Given the description of an element on the screen output the (x, y) to click on. 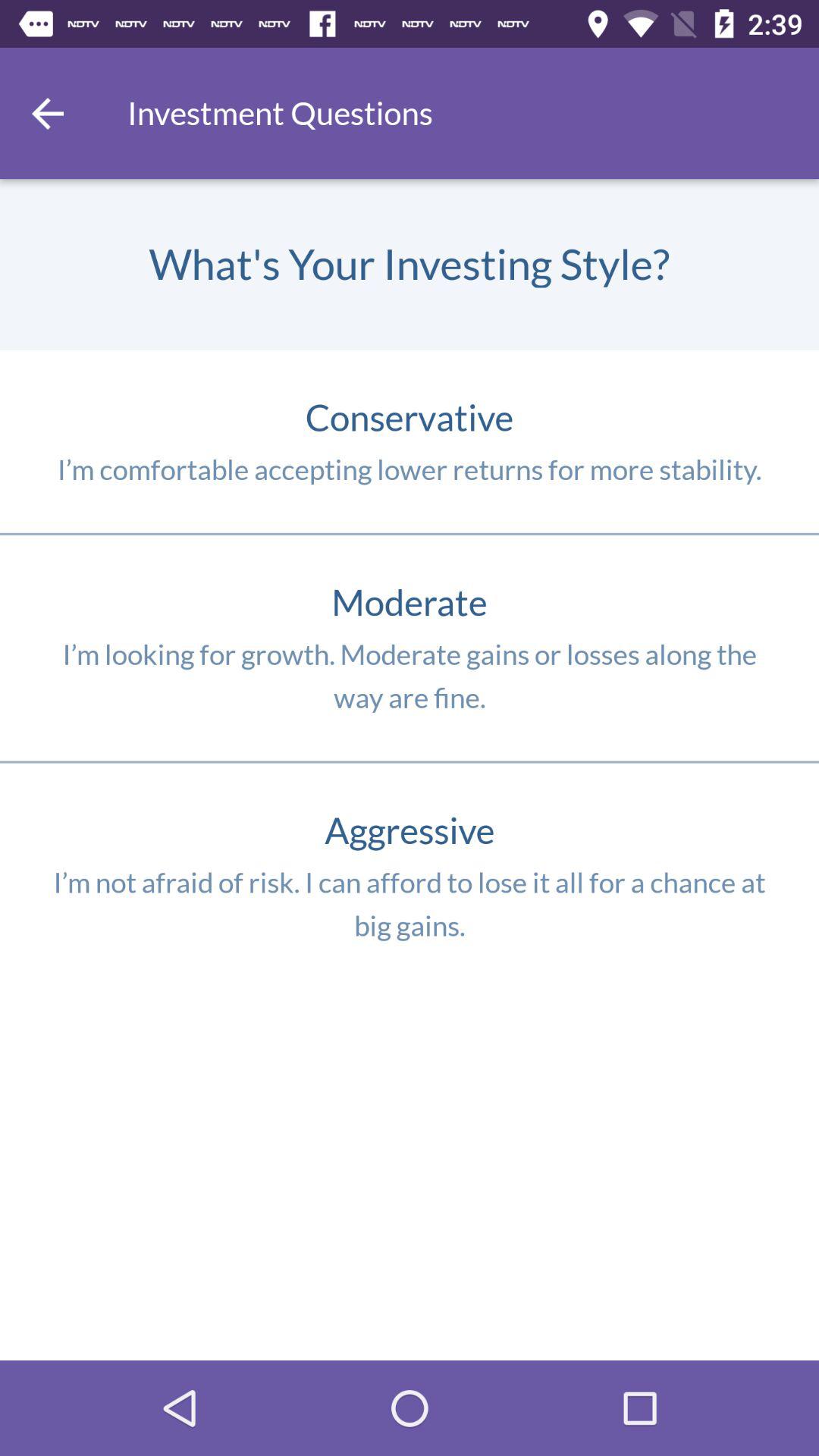
go back (47, 113)
